Given the description of an element on the screen output the (x, y) to click on. 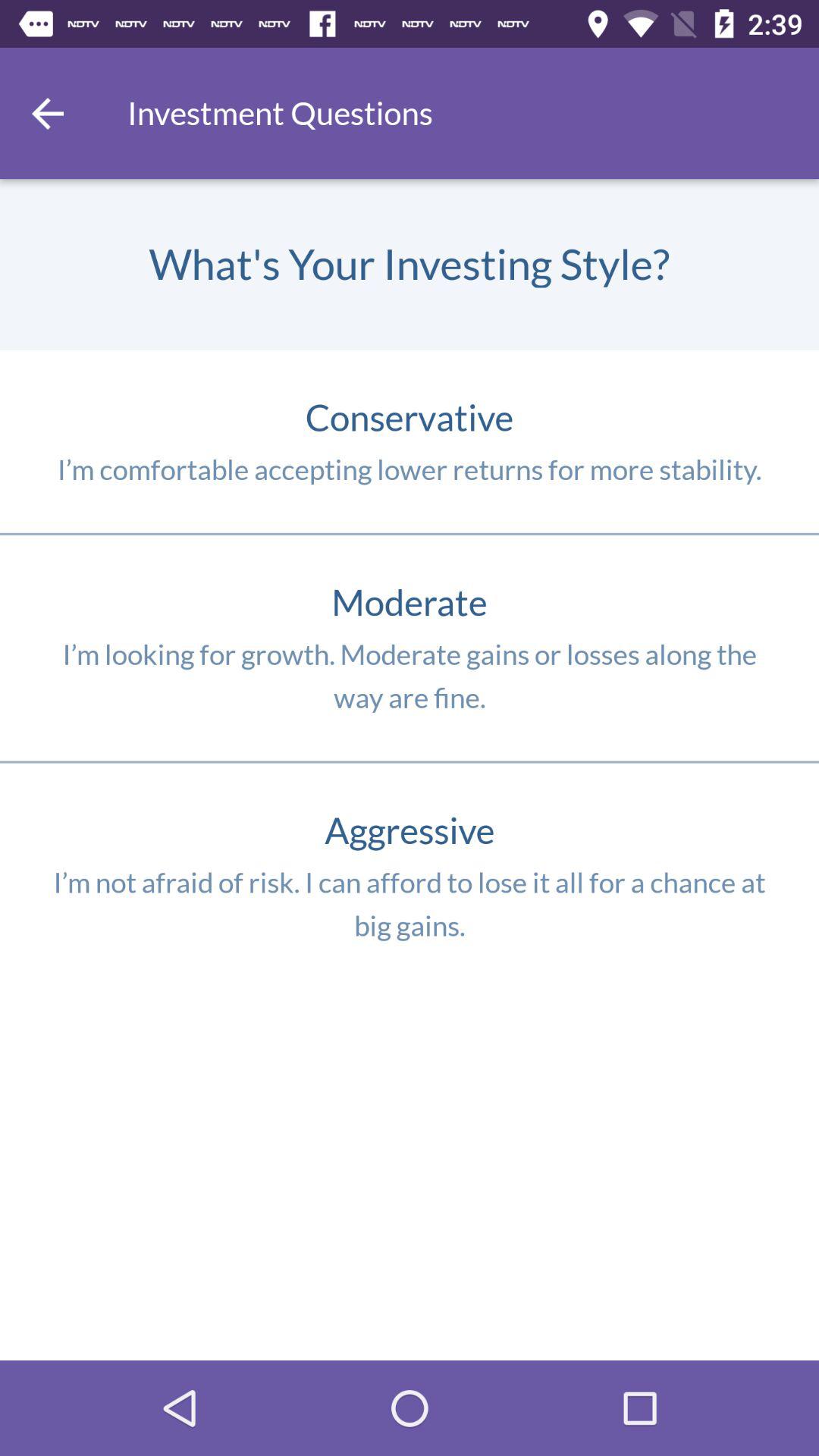
go back (47, 113)
